Given the description of an element on the screen output the (x, y) to click on. 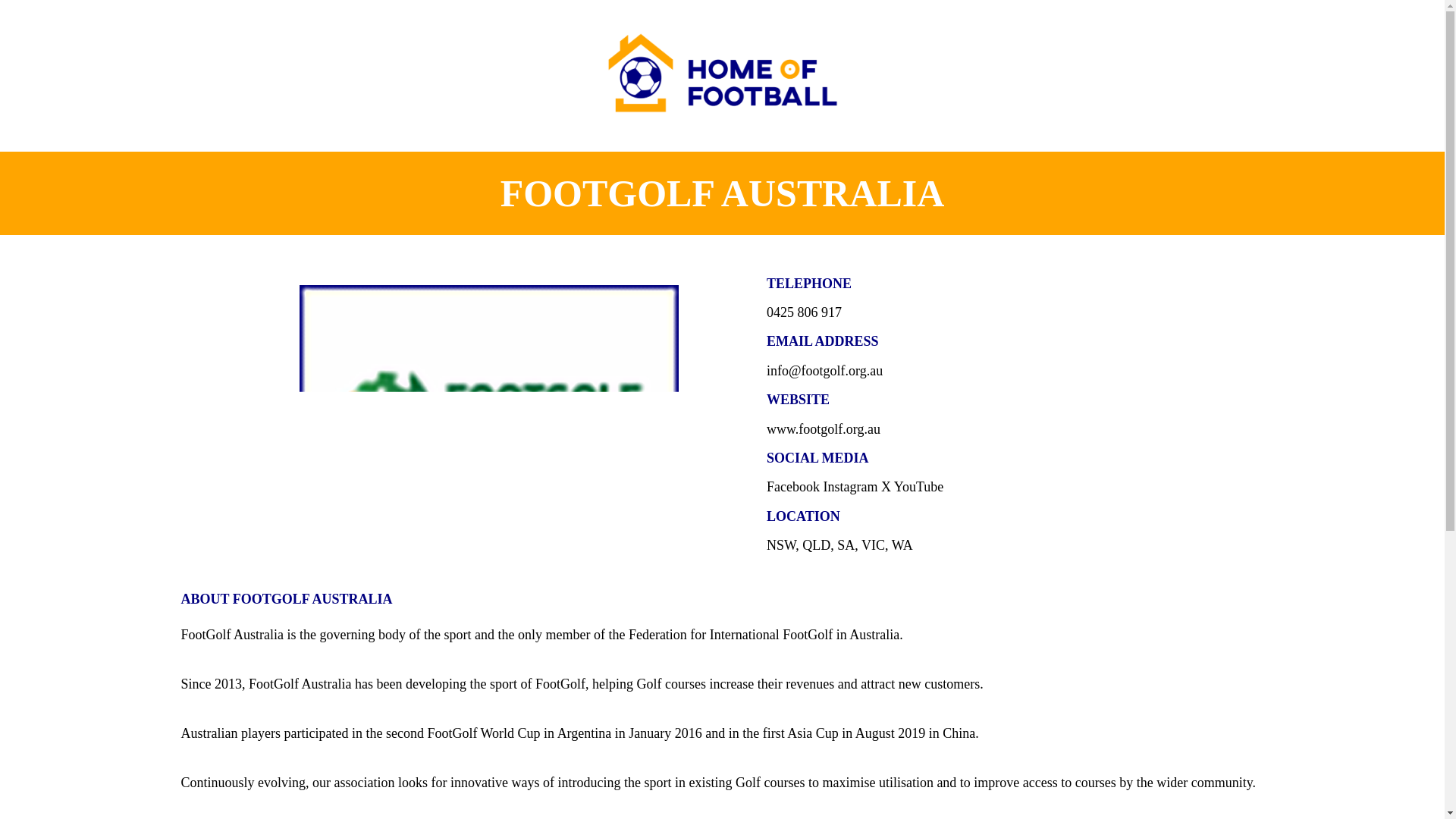
YouTube (918, 486)
0425 806 917 (804, 312)
FootGolf Australia (488, 416)
Facebook (793, 486)
www.footgolf.org.au (823, 428)
Home of Football (721, 72)
Instagram (849, 486)
